Given the description of an element on the screen output the (x, y) to click on. 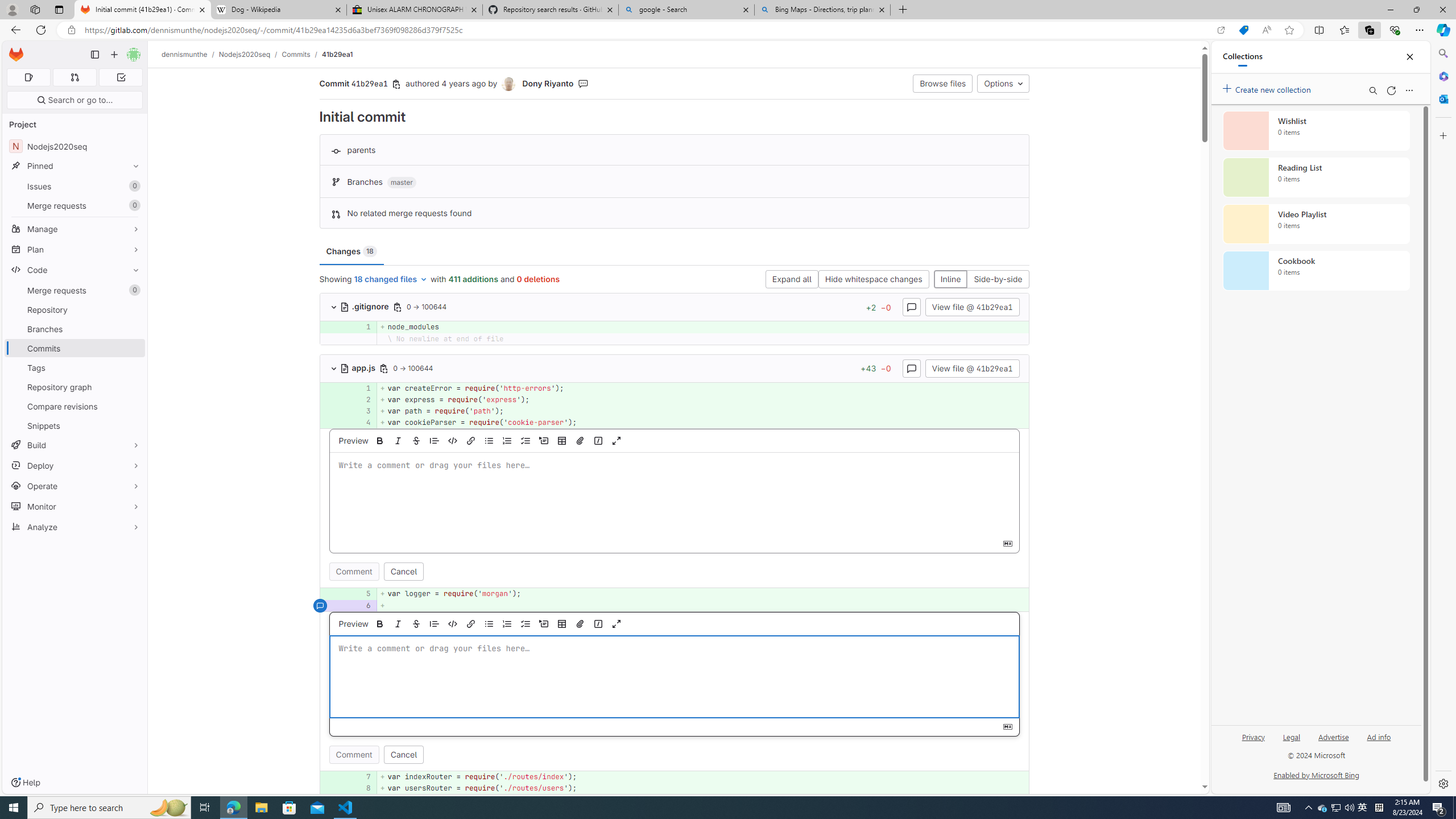
Insert a quote (434, 623)
Deploy (74, 465)
Manage (74, 228)
.gitignore  (365, 306)
Tags (74, 367)
Commits/ (301, 53)
Toggle comments for this file (911, 367)
Merge requests0 (74, 289)
To-Do list 0 (120, 76)
